Given the description of an element on the screen output the (x, y) to click on. 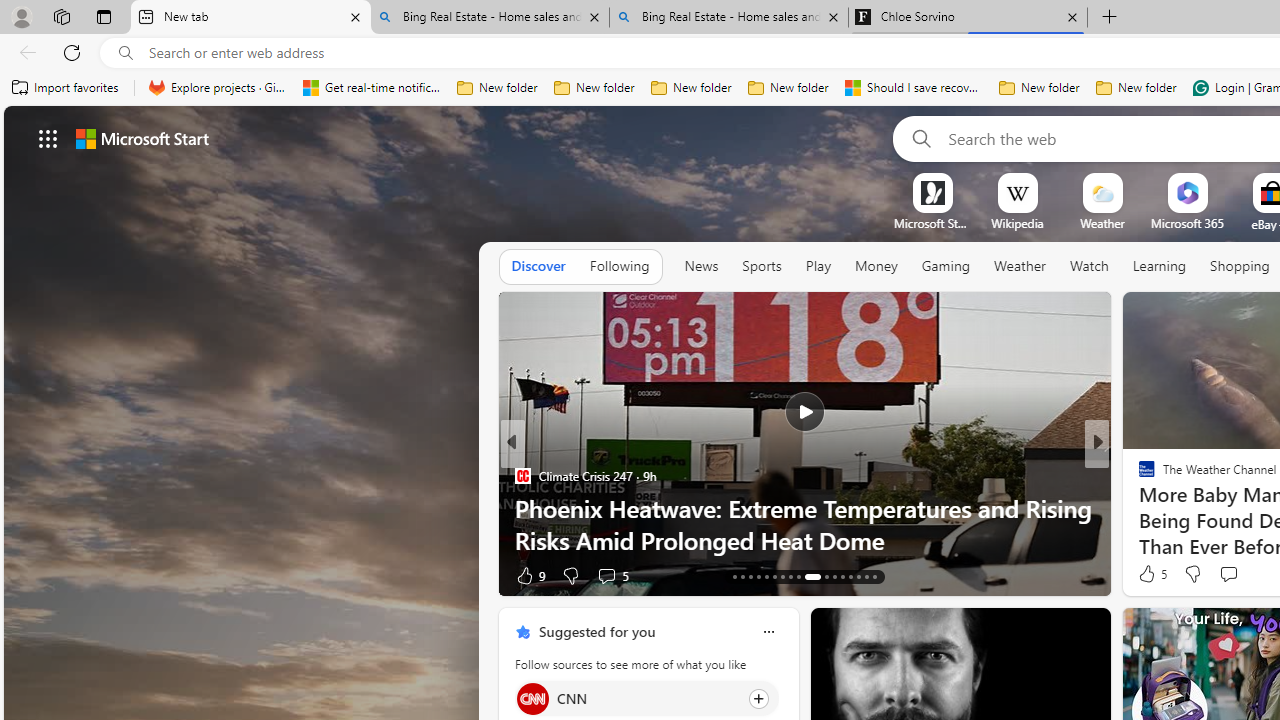
AutomationID: tab-21 (797, 576)
AutomationID: tab-39 (850, 576)
AutomationID: tab-23 (820, 576)
View comments 2 Comment (1234, 574)
AutomationID: tab-24 (833, 576)
How to Survive (1138, 507)
View comments 1 Comment (1234, 574)
